Given the description of an element on the screen output the (x, y) to click on. 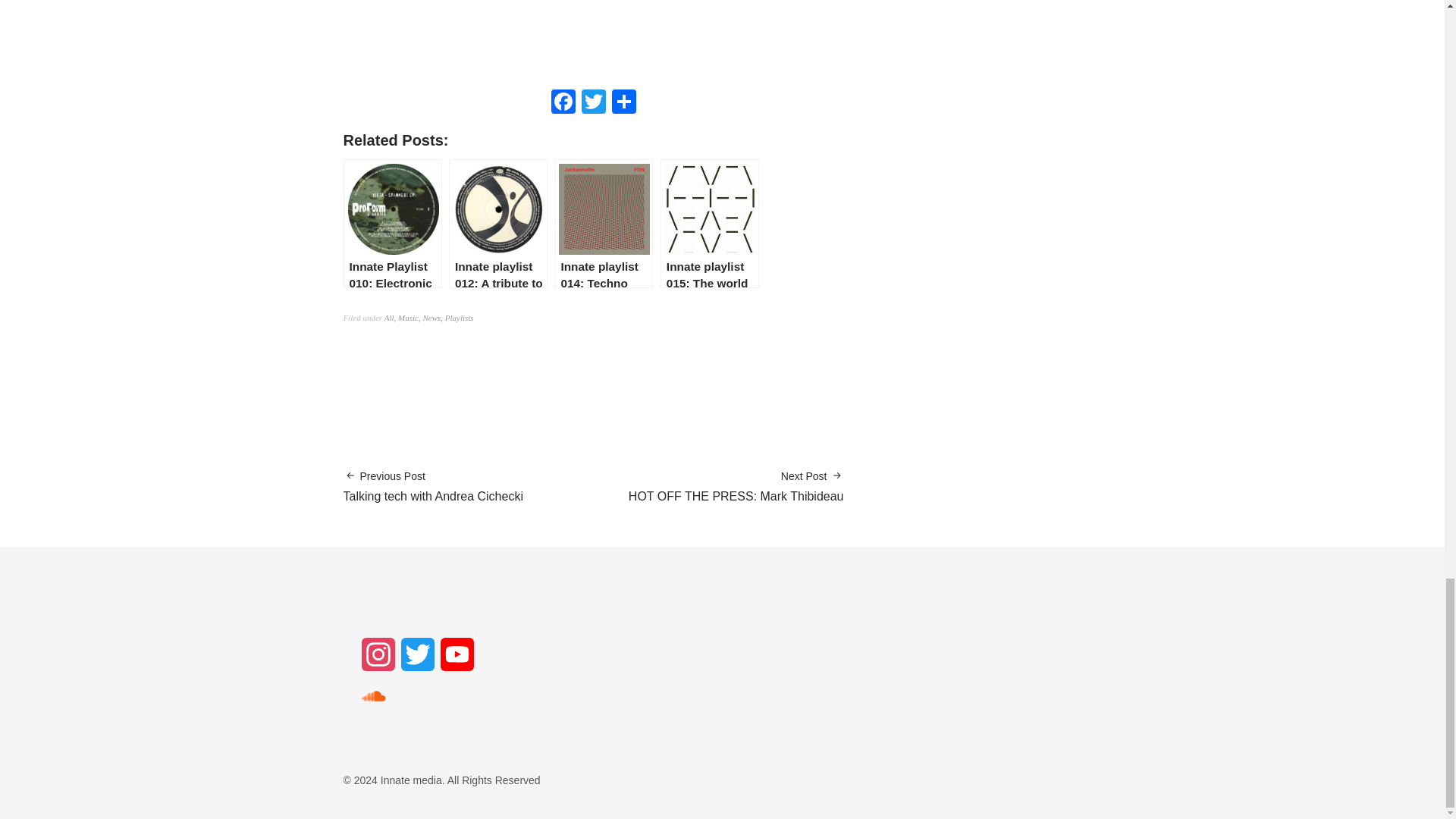
Music (432, 486)
All (408, 317)
Polytunnel (389, 317)
News (592, 37)
Facebook (431, 317)
Twitter (562, 103)
Twitter (593, 103)
Playlists (593, 103)
